Given the description of an element on the screen output the (x, y) to click on. 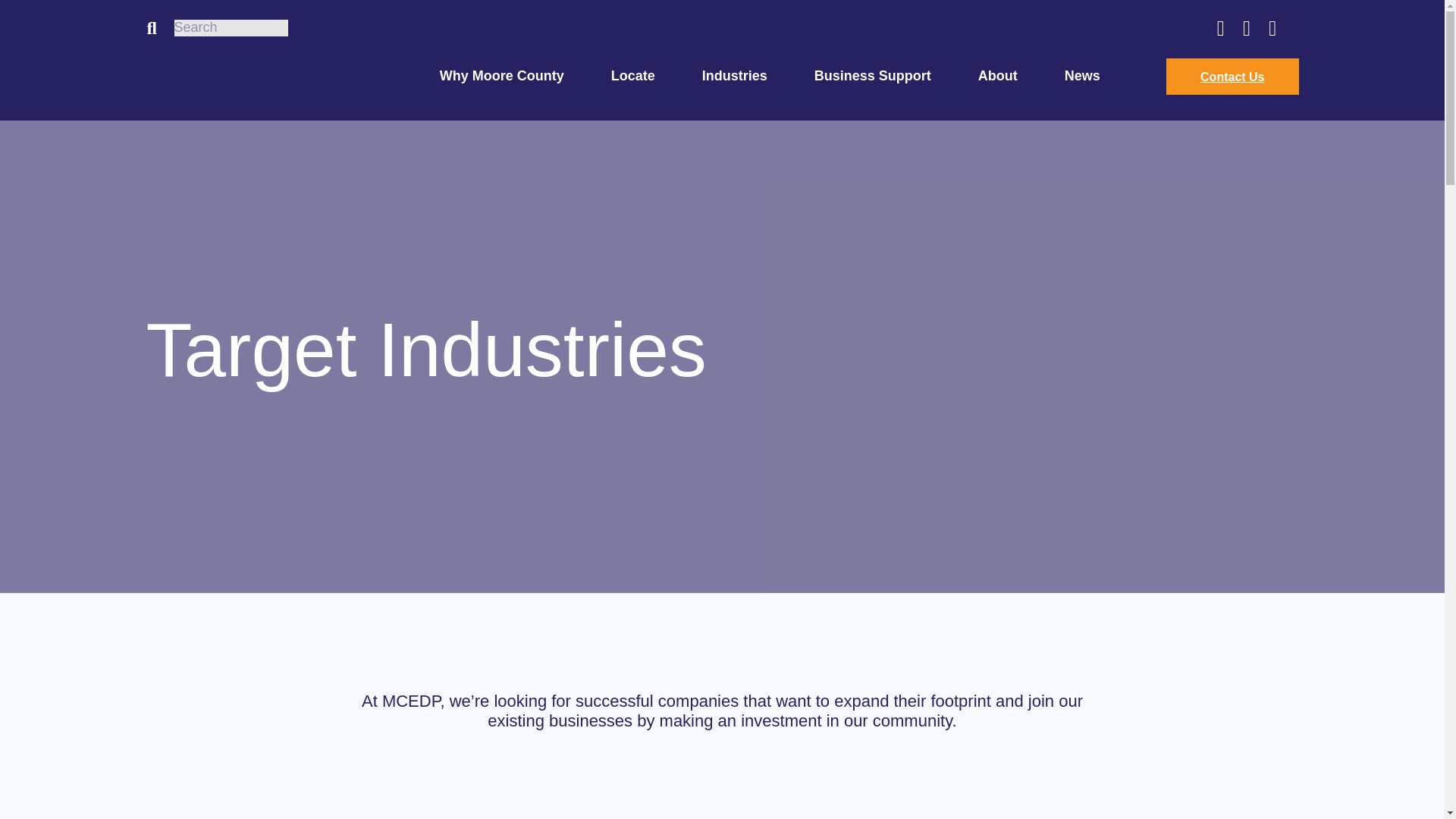
News (1082, 75)
MCEDP (258, 75)
Locate (633, 75)
Contact Us (1232, 76)
Industries (734, 75)
Why Moore County (501, 75)
Business Support (872, 75)
About (997, 75)
